Given the description of an element on the screen output the (x, y) to click on. 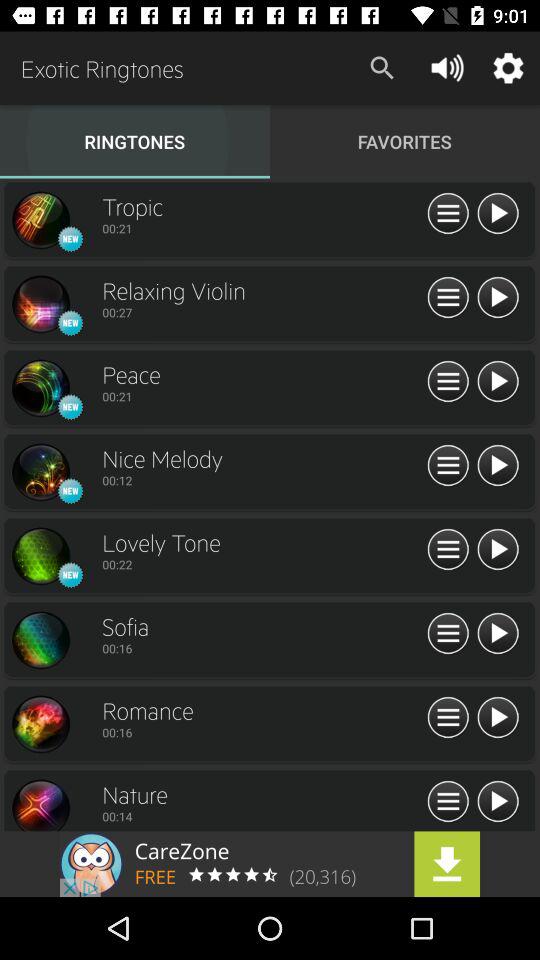
advertisement (270, 864)
